Given the description of an element on the screen output the (x, y) to click on. 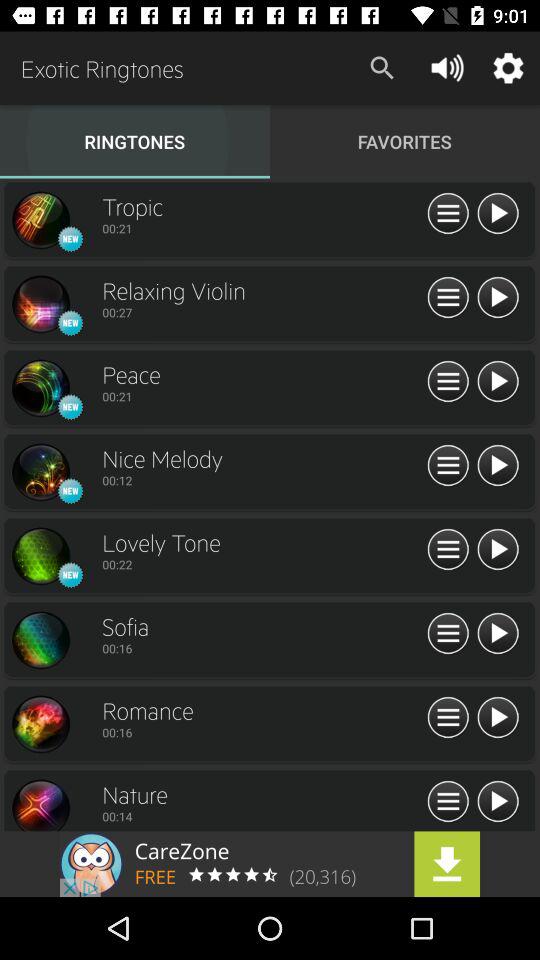
advertisement (270, 864)
